Given the description of an element on the screen output the (x, y) to click on. 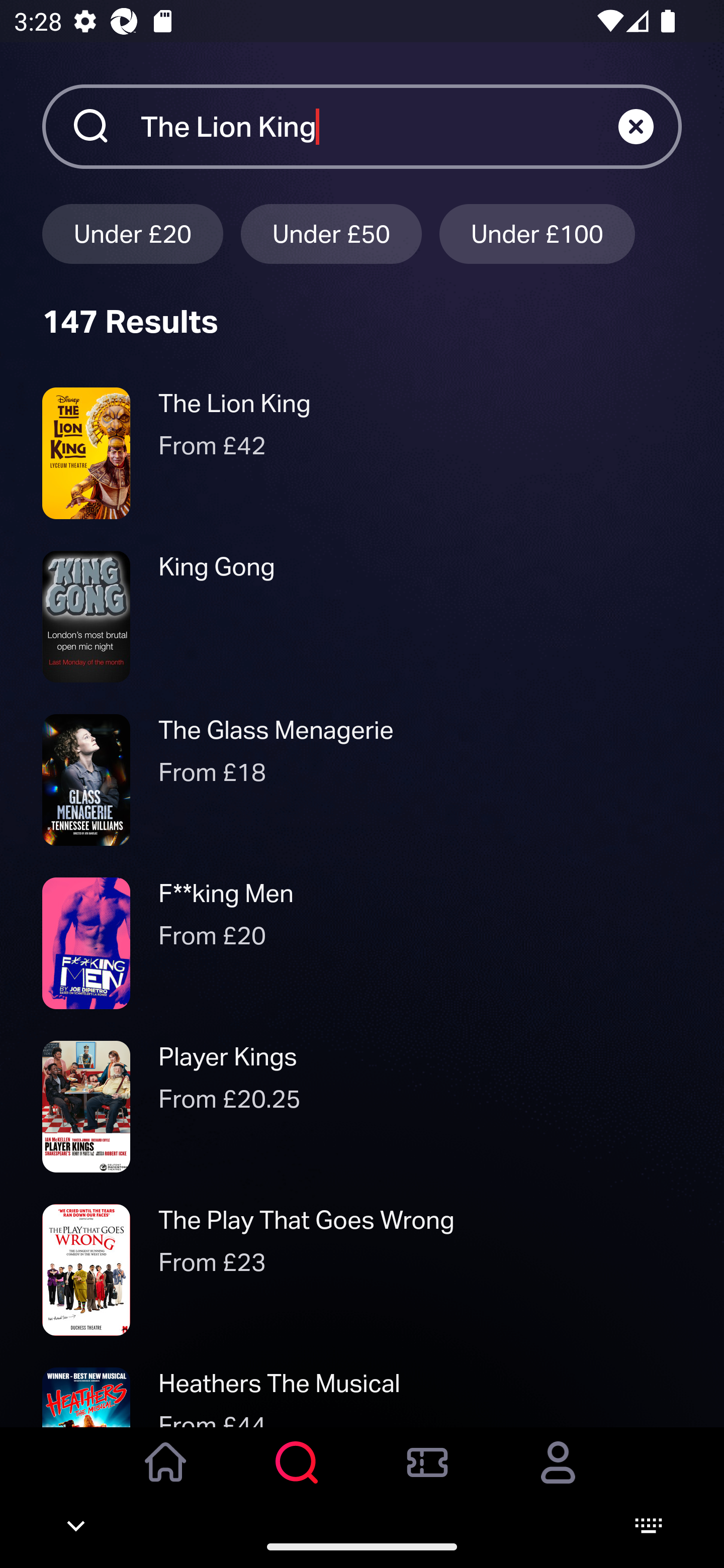
The Lion King (379, 126)
Under £20 (131, 233)
Under £50 (331, 233)
Under £100 (536, 233)
The Lion King £42  The Lion King From £42 (361, 453)
King Gong  King Gong (361, 616)
F**king Men £20  F**king Men From £20 (361, 943)
Player Kings £20.25  Player Kings From £20.25 (361, 1106)
Home (165, 1475)
Orders (427, 1475)
Account (558, 1475)
